Given the description of an element on the screen output the (x, y) to click on. 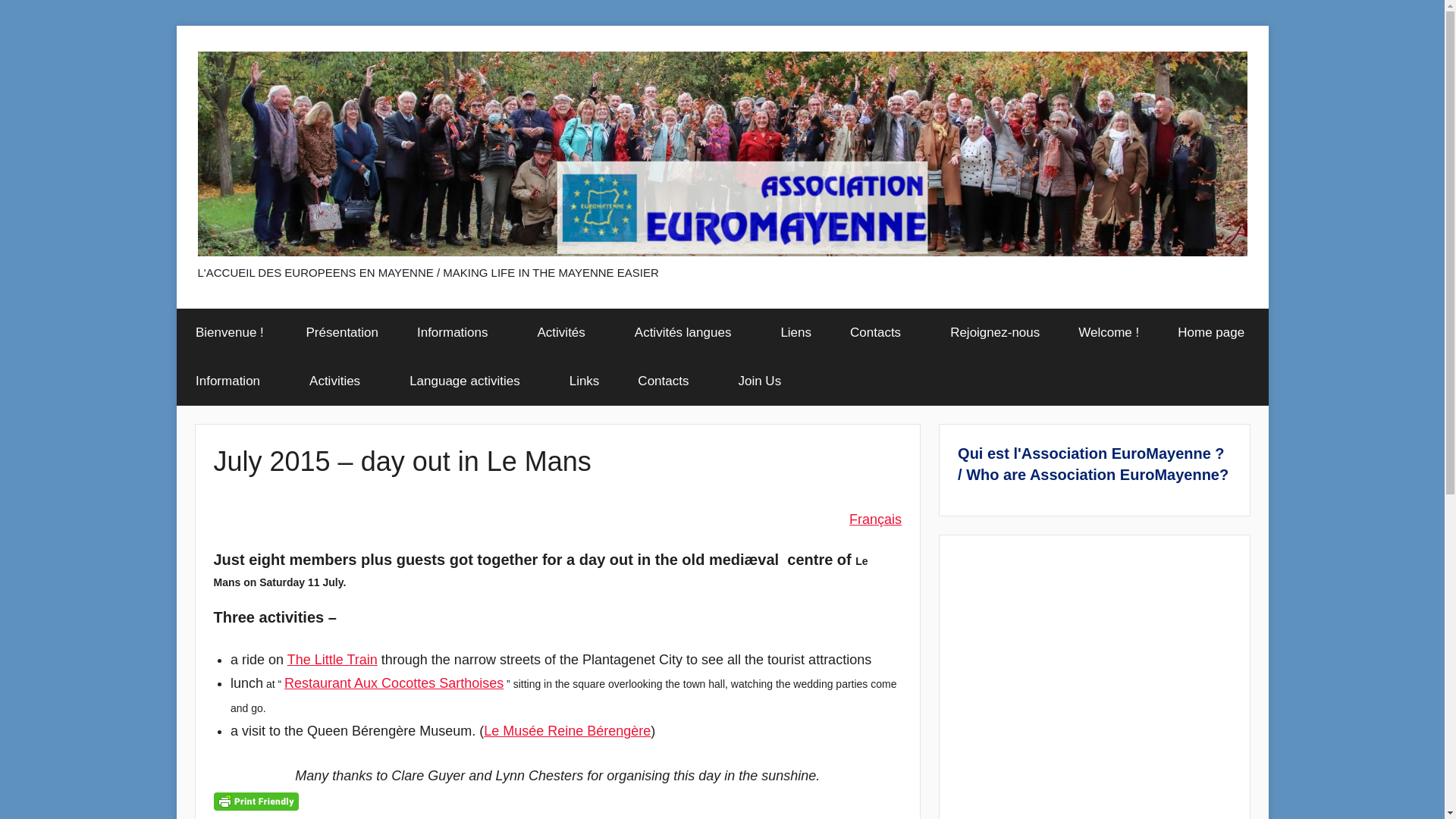
Informations (457, 332)
Bienvenue !  (231, 332)
